Given the description of an element on the screen output the (x, y) to click on. 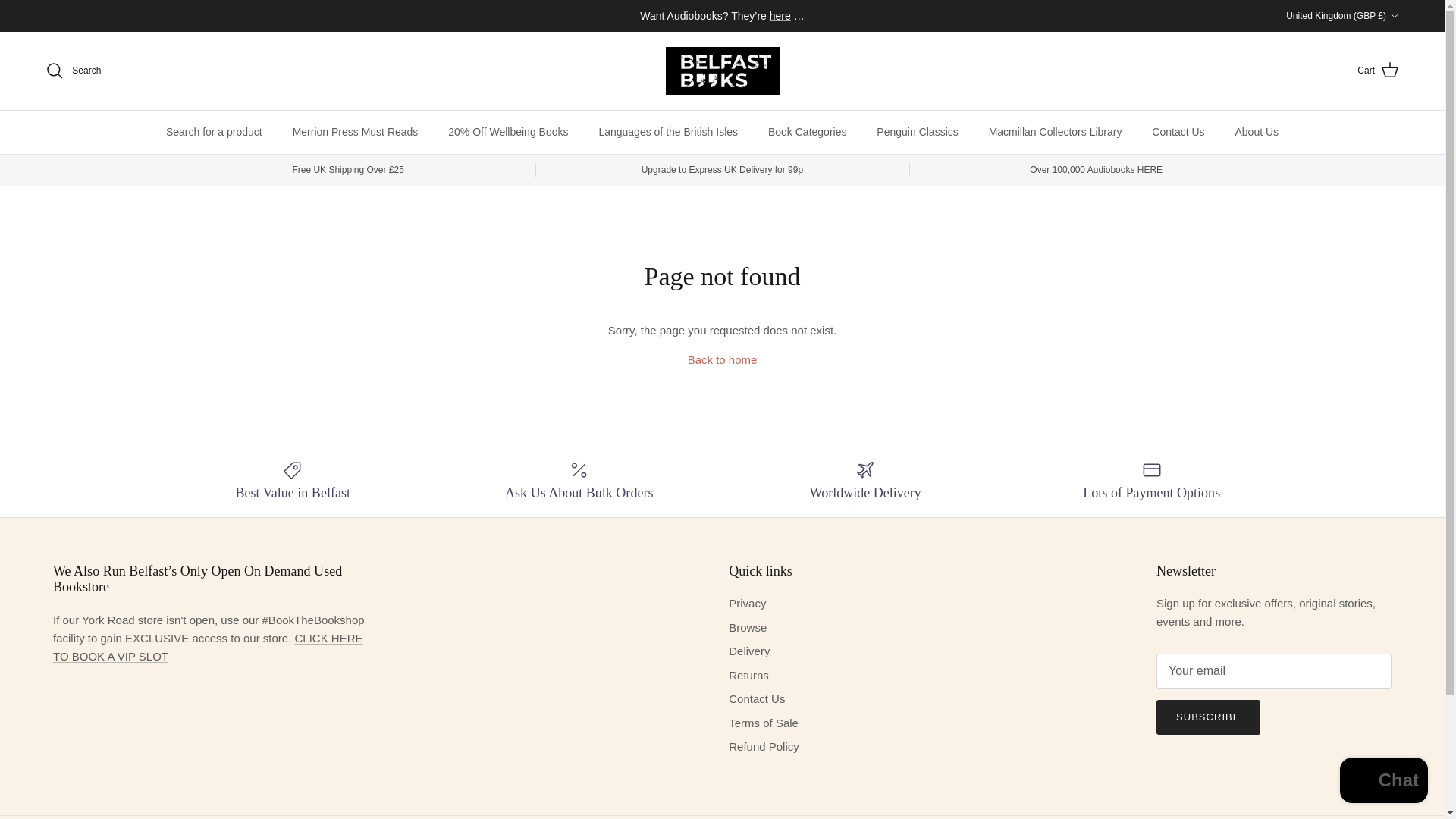
Macmillan Collectors Library (1055, 131)
Search (72, 70)
Shopify online store chat (1383, 781)
About Us (1256, 131)
here (780, 15)
Book Categories (807, 131)
Belfast Books (721, 70)
Penguin Classics (917, 131)
Search for a product (214, 131)
Contact Us (1177, 131)
